Given the description of an element on the screen output the (x, y) to click on. 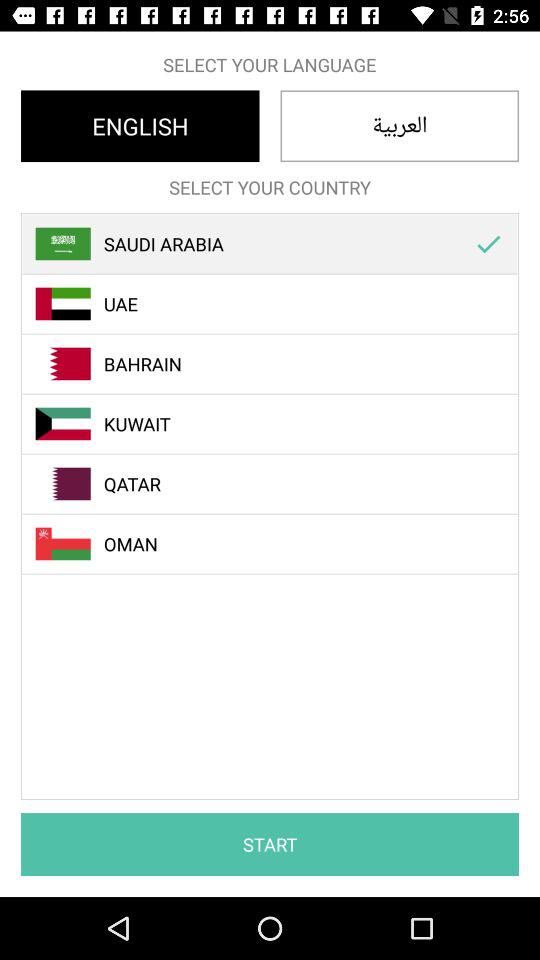
launch saudi arabia (281, 243)
